Given the description of an element on the screen output the (x, y) to click on. 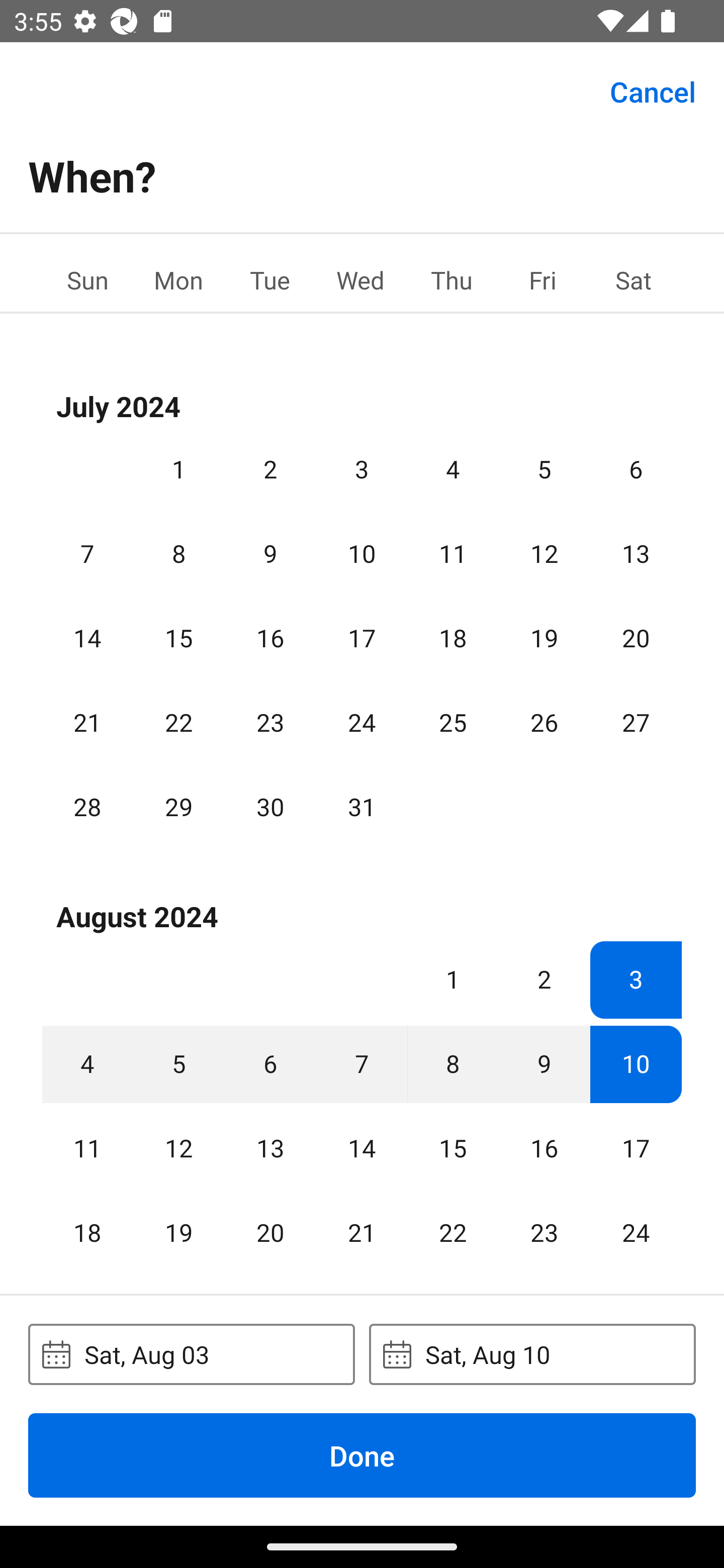
Cancel (652, 90)
Sat, Aug 03 (191, 1353)
Sat, Aug 10 (532, 1353)
Done (361, 1454)
